Given the description of an element on the screen output the (x, y) to click on. 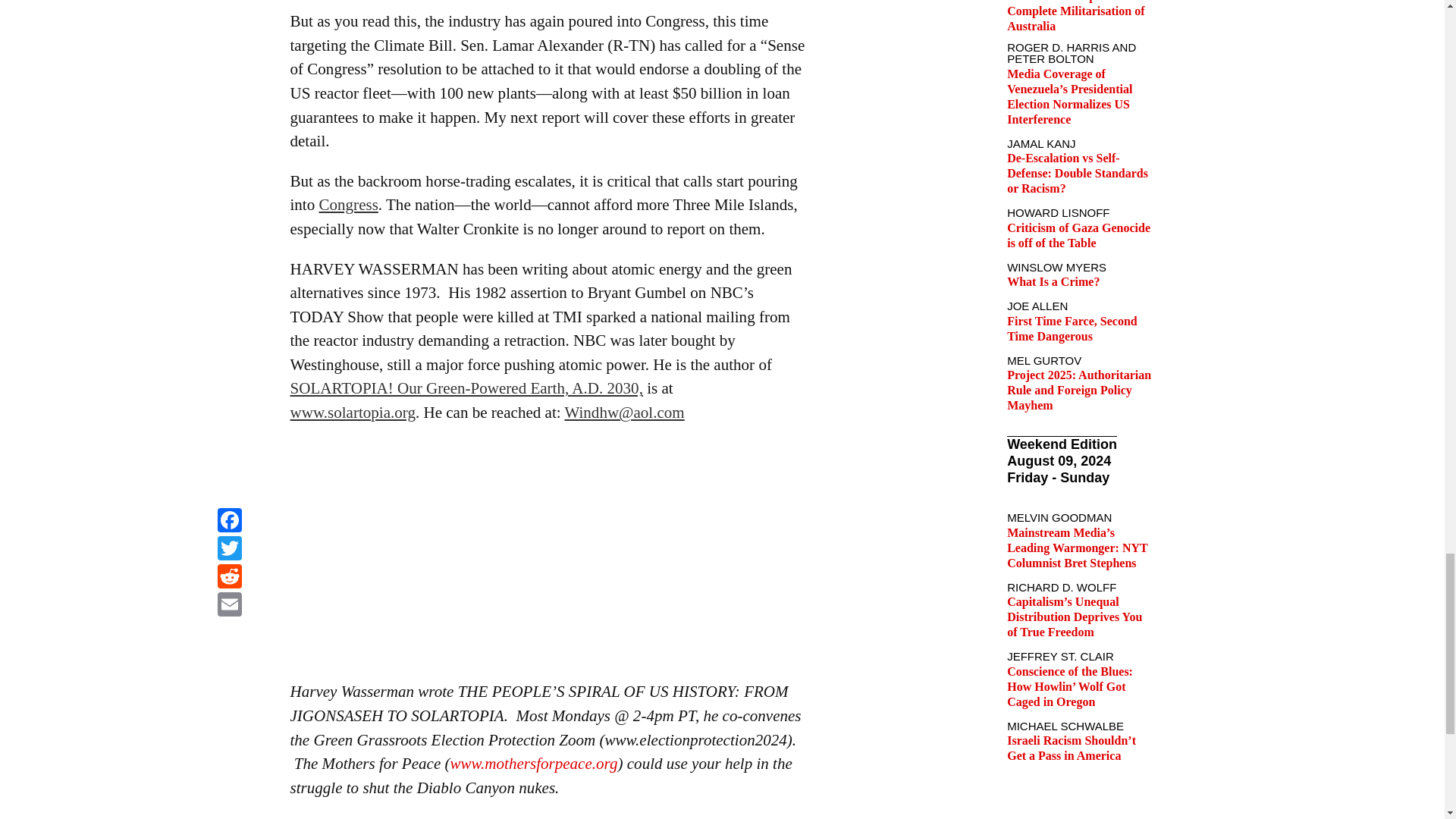
Congress (348, 204)
www.mothersforpeace.org (533, 763)
www.solartopia.org (351, 412)
SOLARTOPIA! Our Green-Powered Earth, A.D. 2030, (465, 388)
